Given the description of an element on the screen output the (x, y) to click on. 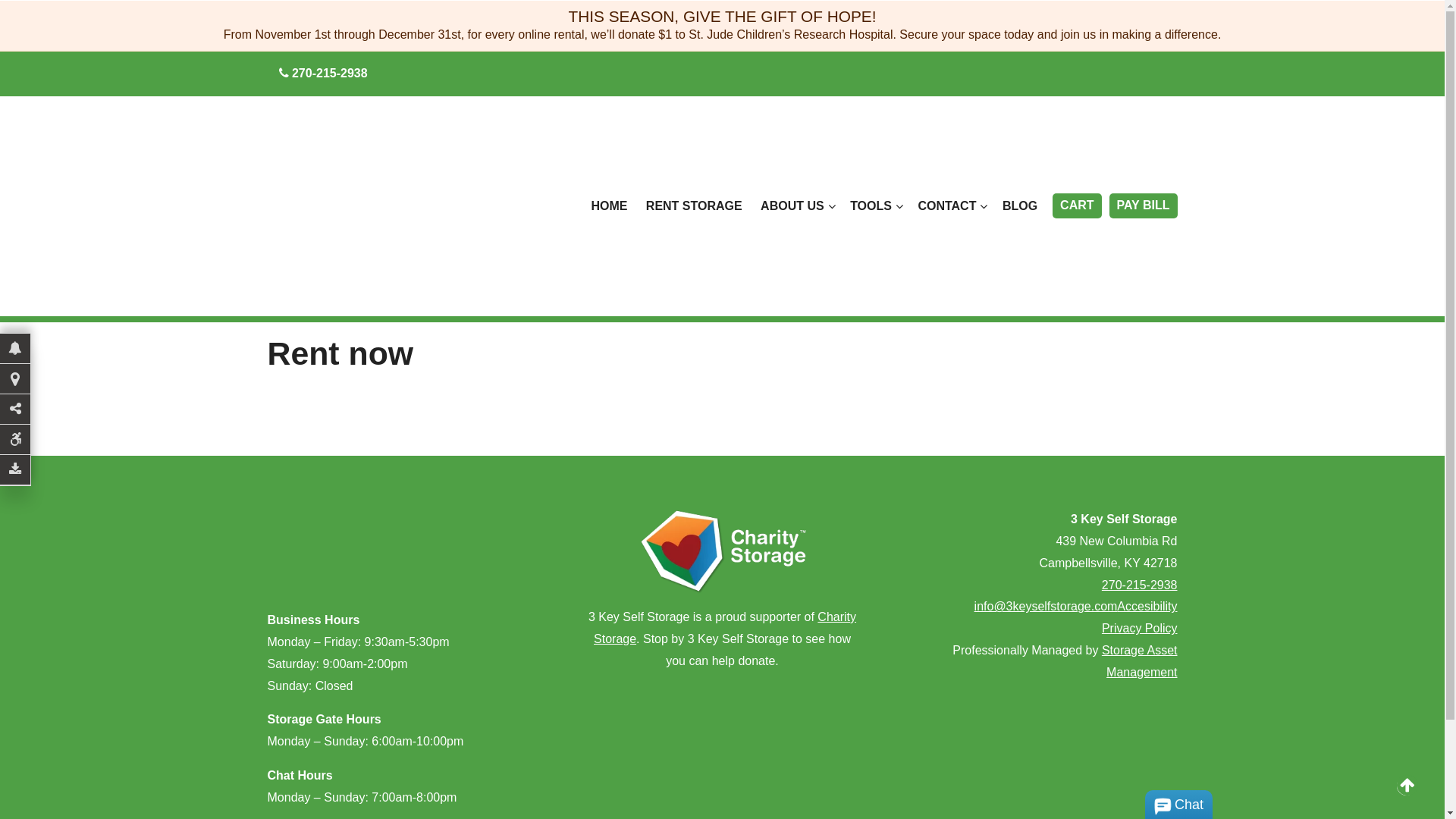
Privacy Policy Element type: text (1139, 627)
CONTACT Element type: text (950, 205)
Accessibility Helper Element type: hover (15, 439)
PAY BILL Element type: text (1143, 205)
Accesibility Element type: text (1146, 605)
Enable Notifications Element type: hover (15, 348)
Enable Location Element type: hover (15, 379)
Storage Asset Management Element type: text (1139, 660)
270-215-2938 Element type: text (1139, 584)
CART Element type: text (1076, 205)
HOME Element type: text (608, 205)
RENT STORAGE Element type: text (693, 205)
info@3keyselfstorage.com Element type: text (1045, 605)
TOOLS Element type: text (874, 205)
Share Page Element type: hover (15, 409)
BLOG Element type: text (1019, 205)
270-215-2938 Element type: text (322, 73)
ABOUT US Element type: text (796, 205)
Download Site Element type: hover (15, 470)
Charity Storage Element type: text (724, 627)
